Given the description of an element on the screen output the (x, y) to click on. 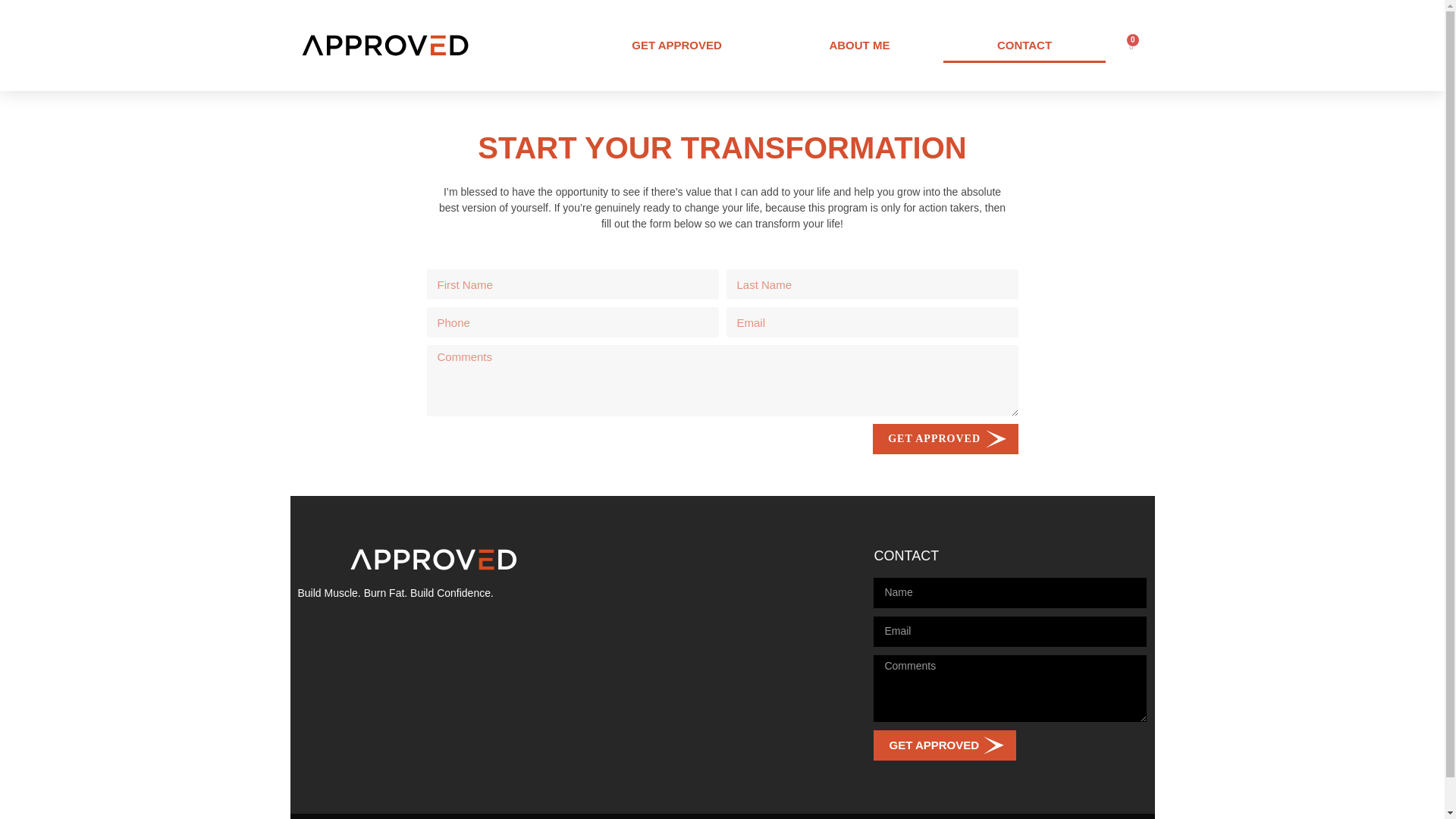
ABOUT ME (859, 45)
CONTACT (1024, 45)
GET APPROVED (676, 45)
GET APPROVED (944, 745)
GET APPROVED (944, 439)
